Given the description of an element on the screen output the (x, y) to click on. 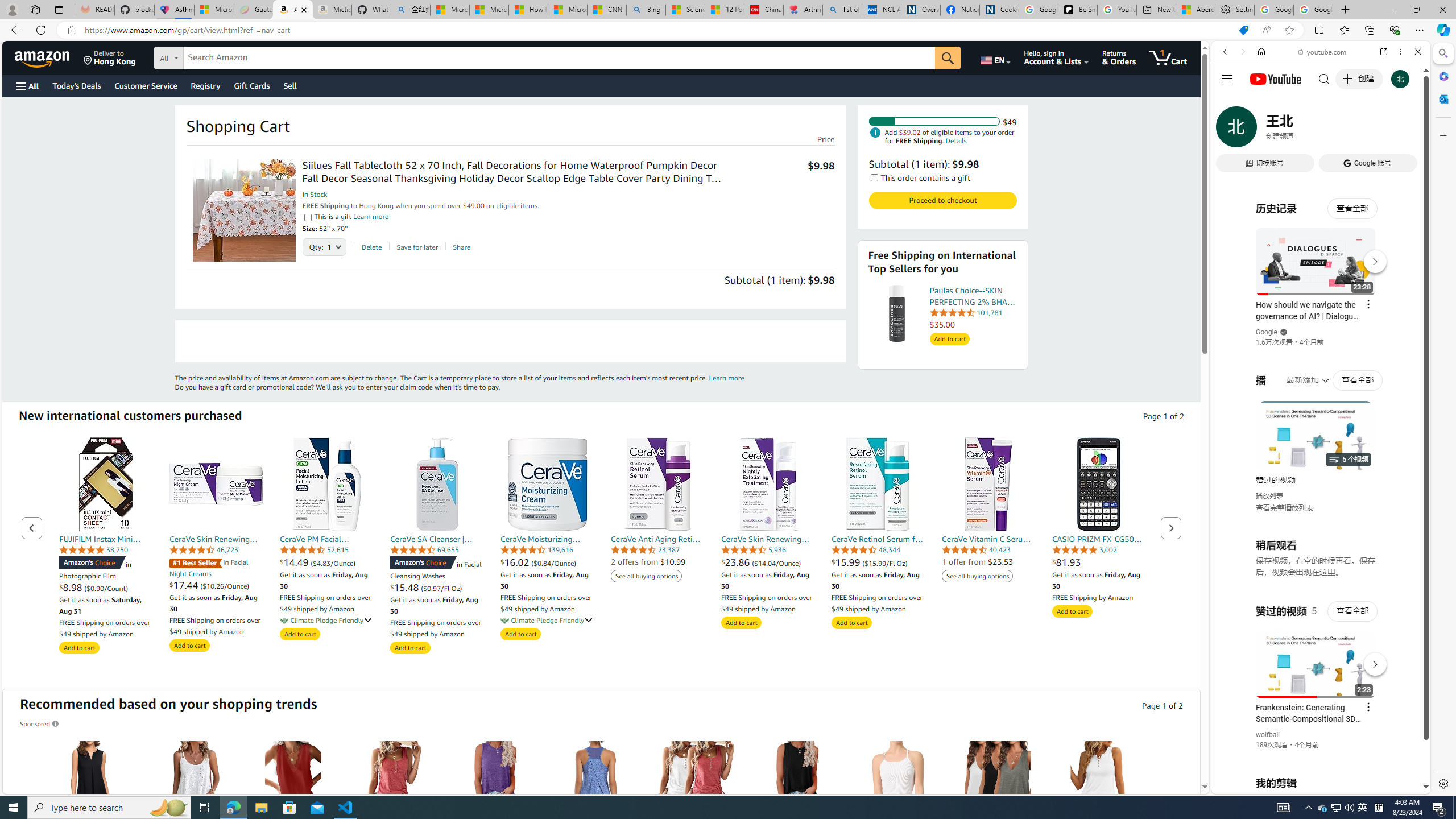
Details (955, 140)
FUJIFILM Instax Mini Contact Sheet Film - 10 Exposures (105, 484)
Amazon.com Shopping Cart (292, 9)
Add to cart (1072, 611)
